Given the description of an element on the screen output the (x, y) to click on. 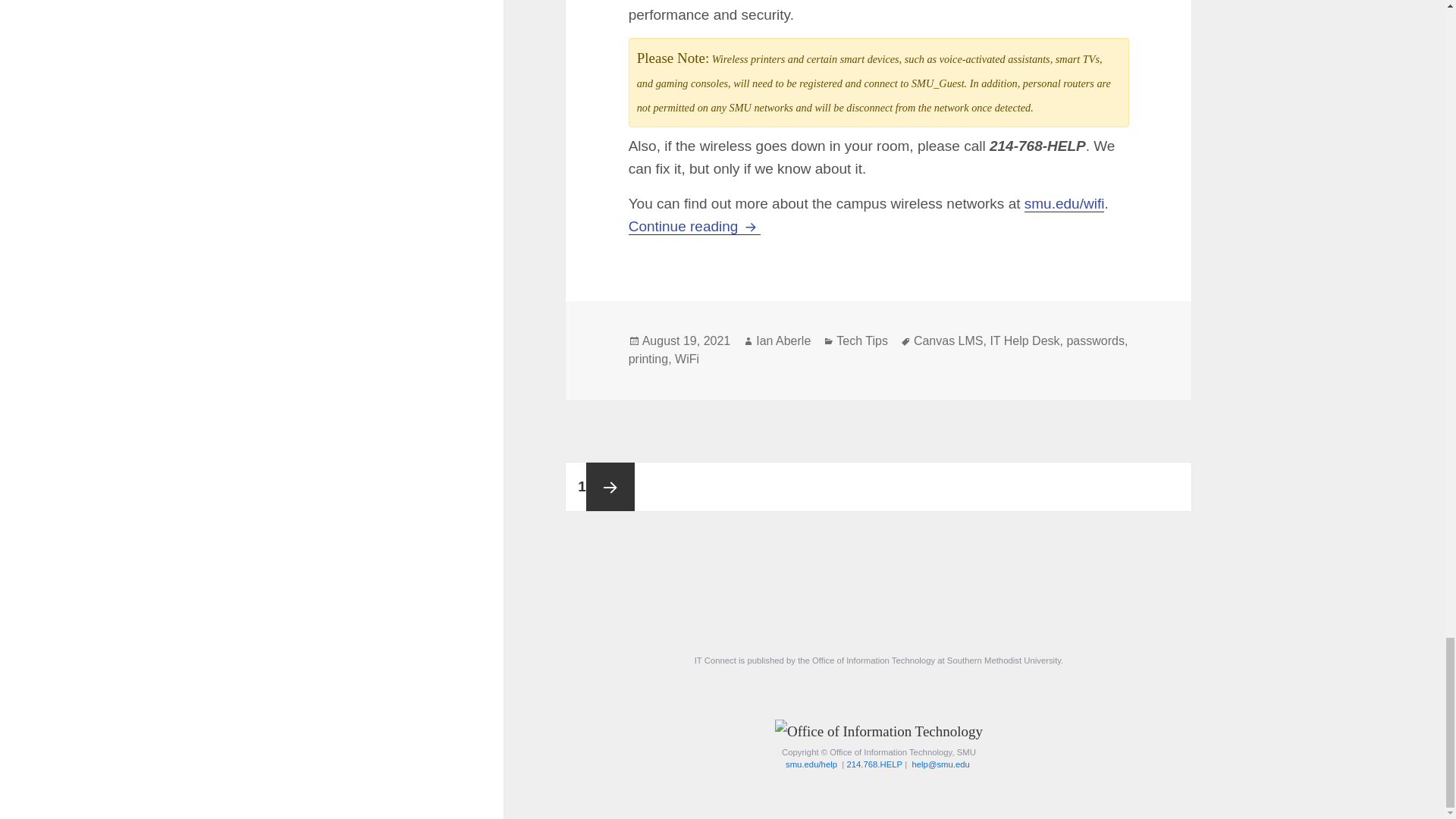
Contact the IT Help Desk (873, 764)
Email the IT Help Desk (940, 764)
Visit the IT Help Pages (811, 764)
